Given the description of an element on the screen output the (x, y) to click on. 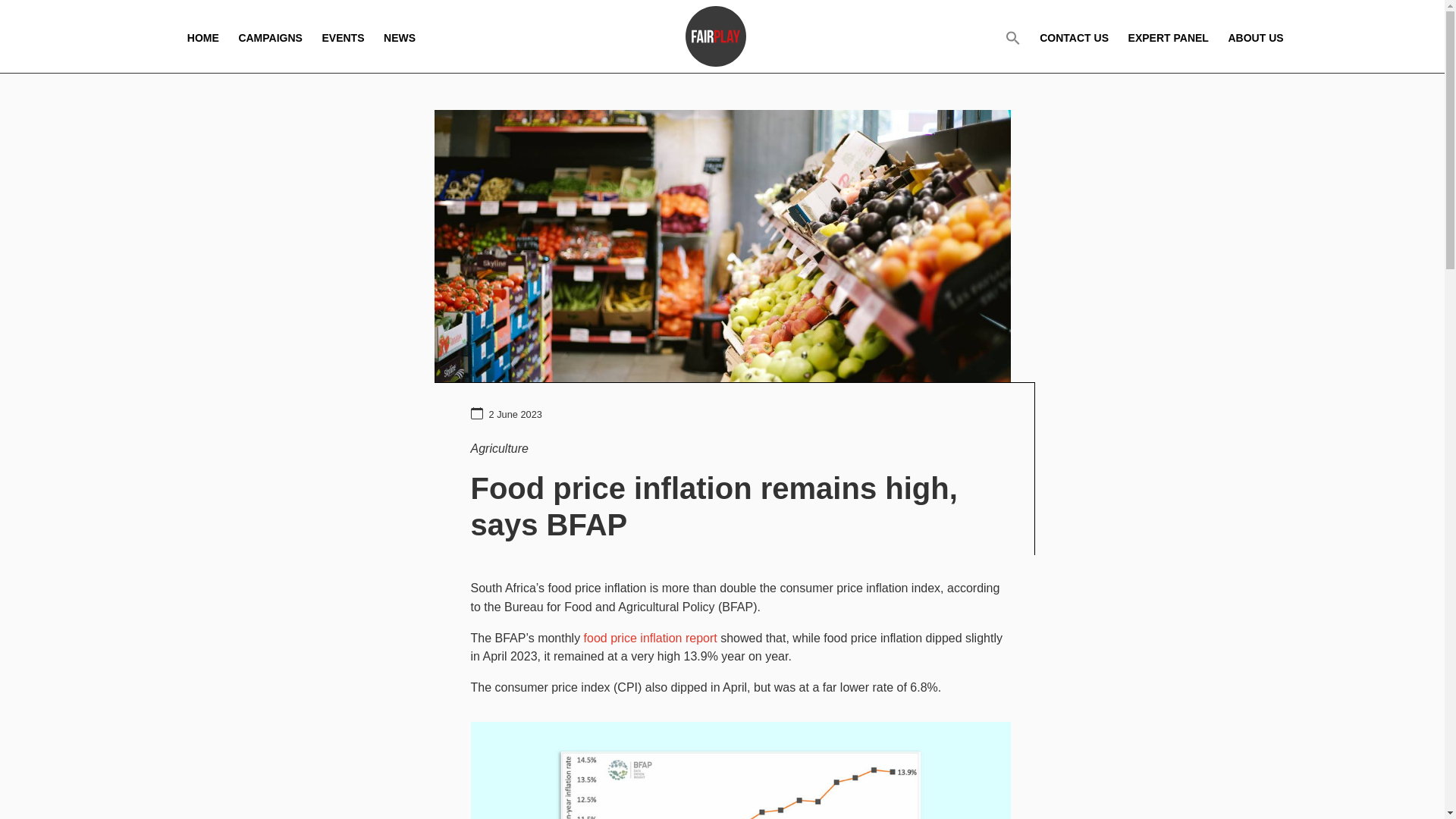
food price inflation report (650, 637)
EXPERT PANEL (1168, 36)
HOME (203, 36)
ABOUT US (1254, 36)
EVENTS (342, 36)
CAMPAIGNS (270, 36)
NEWS (399, 36)
CONTACT US (1073, 36)
